Given the description of an element on the screen output the (x, y) to click on. 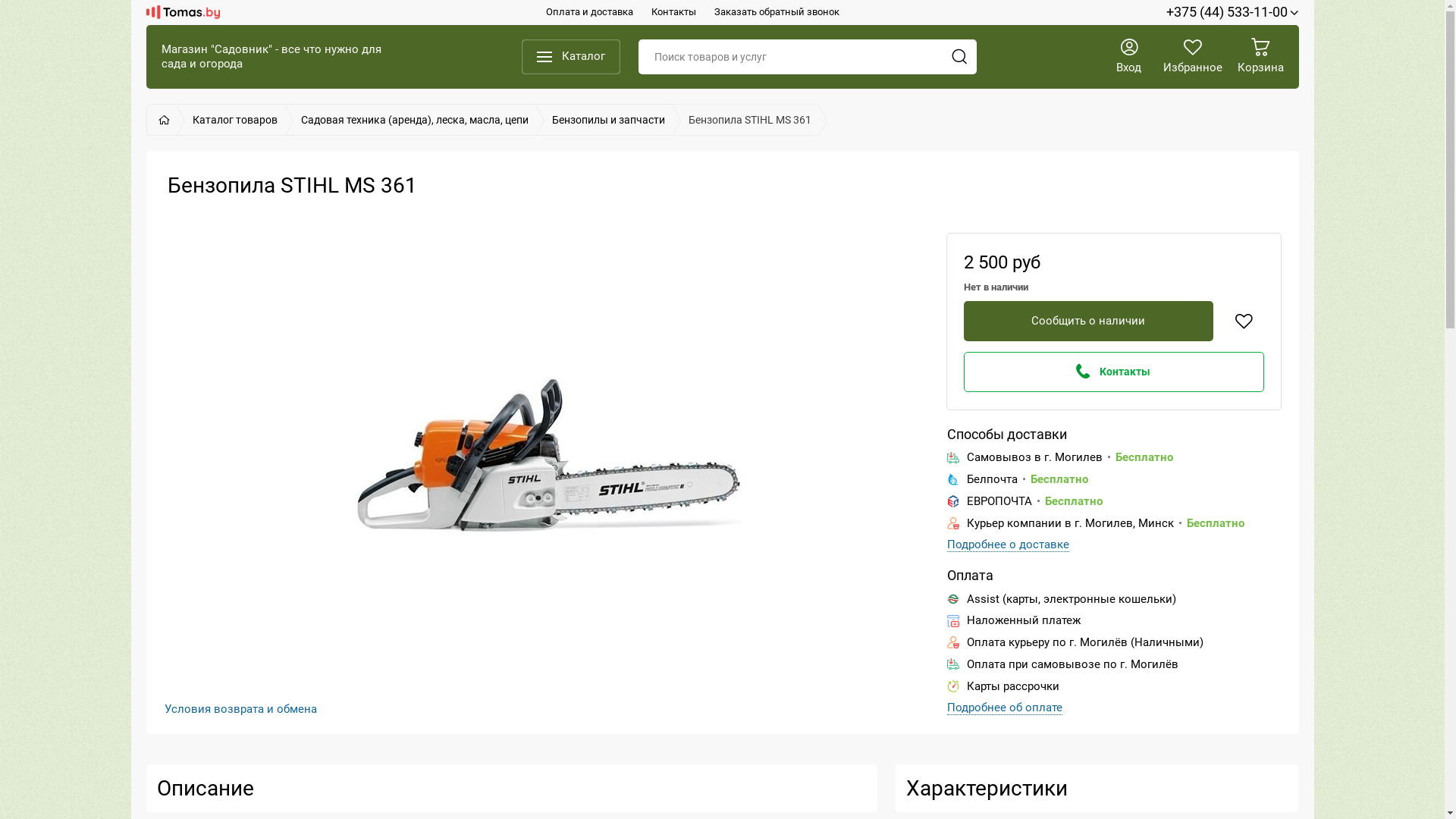
+375 (44) 533-11-00 Element type: text (1232, 12)
